Given the description of an element on the screen output the (x, y) to click on. 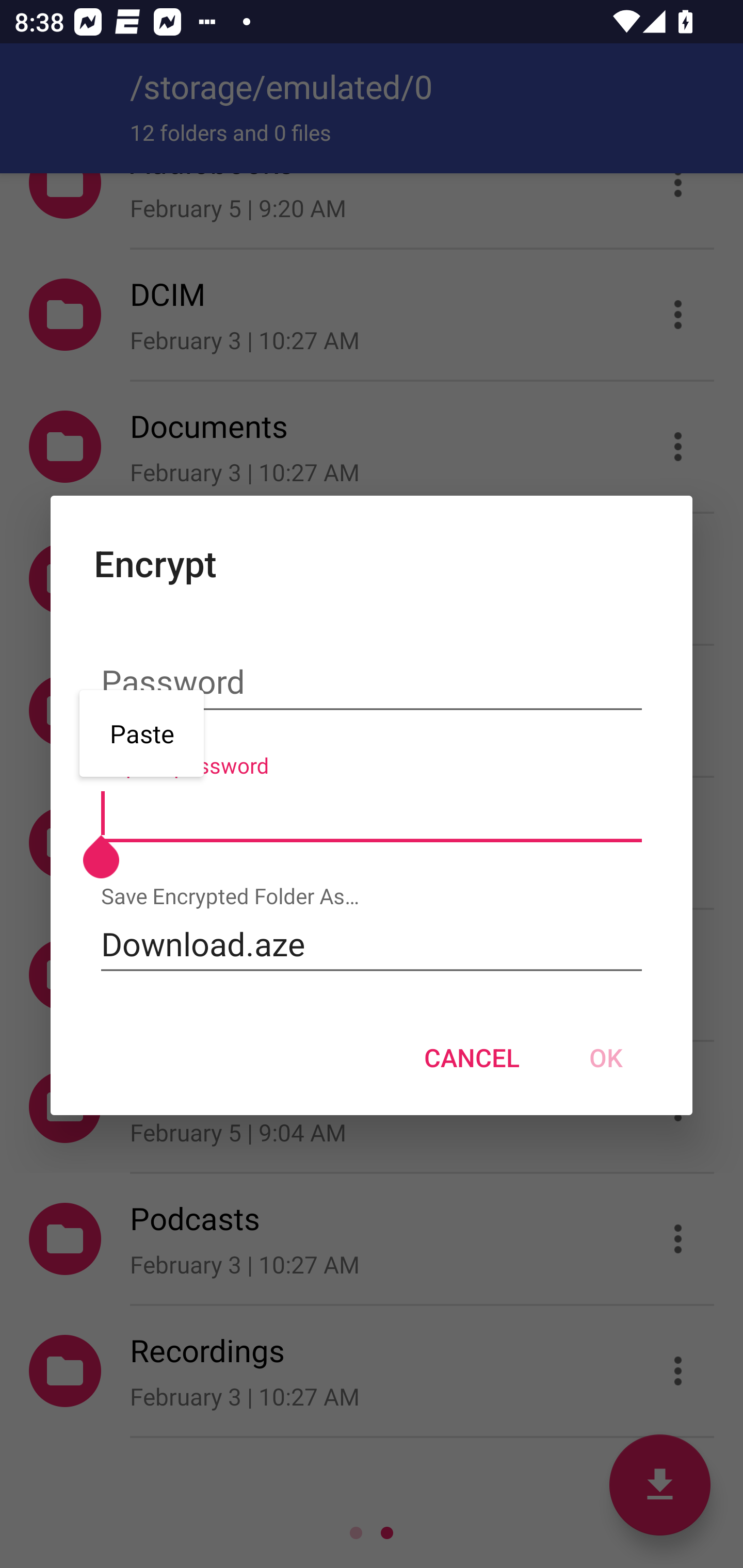
Password (371, 683)
Repeat password (371, 813)
Download.aze (371, 943)
CANCEL (470, 1057)
OK (605, 1057)
